Given the description of an element on the screen output the (x, y) to click on. 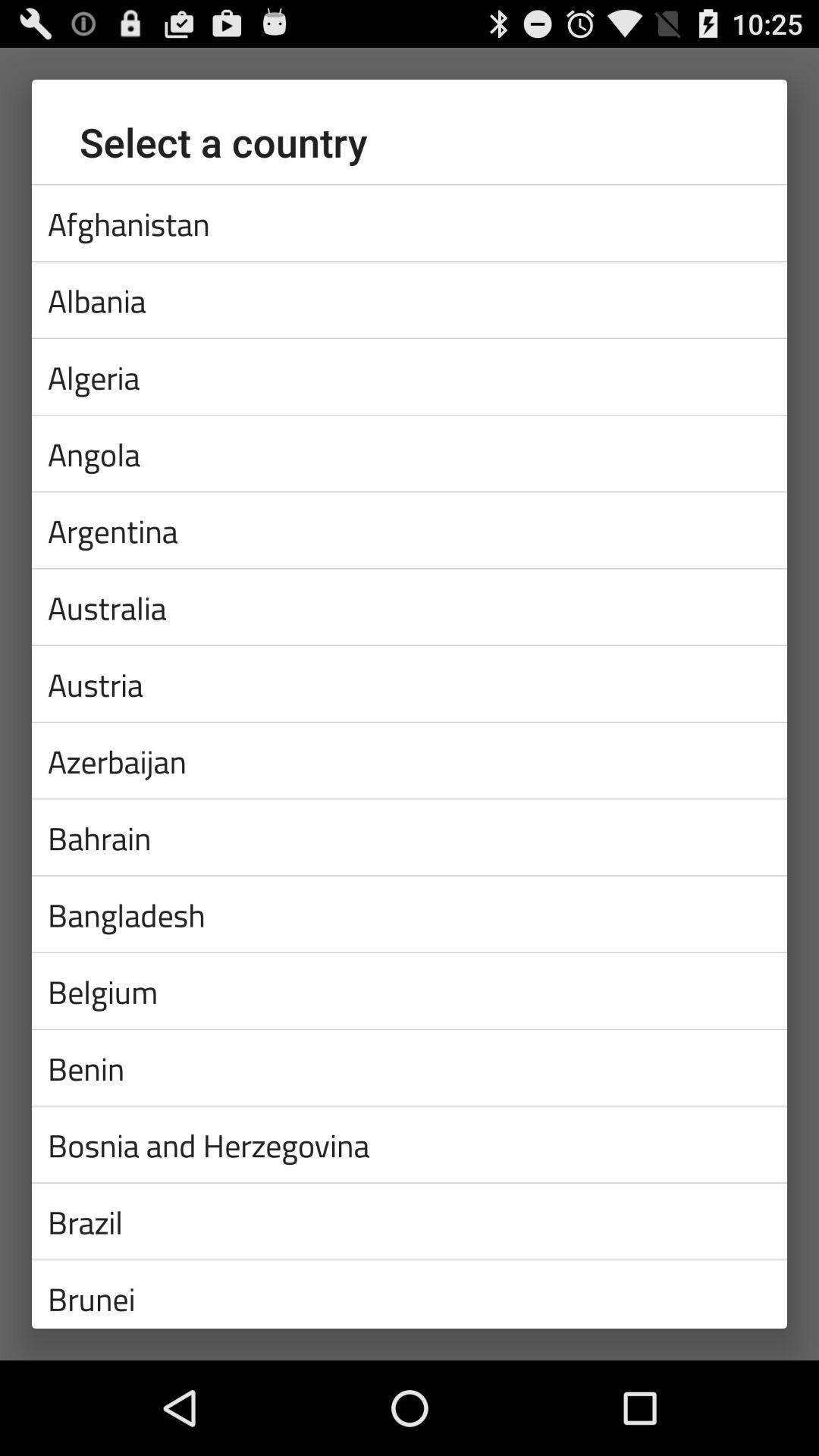
flip to the algeria icon (409, 376)
